Given the description of an element on the screen output the (x, y) to click on. 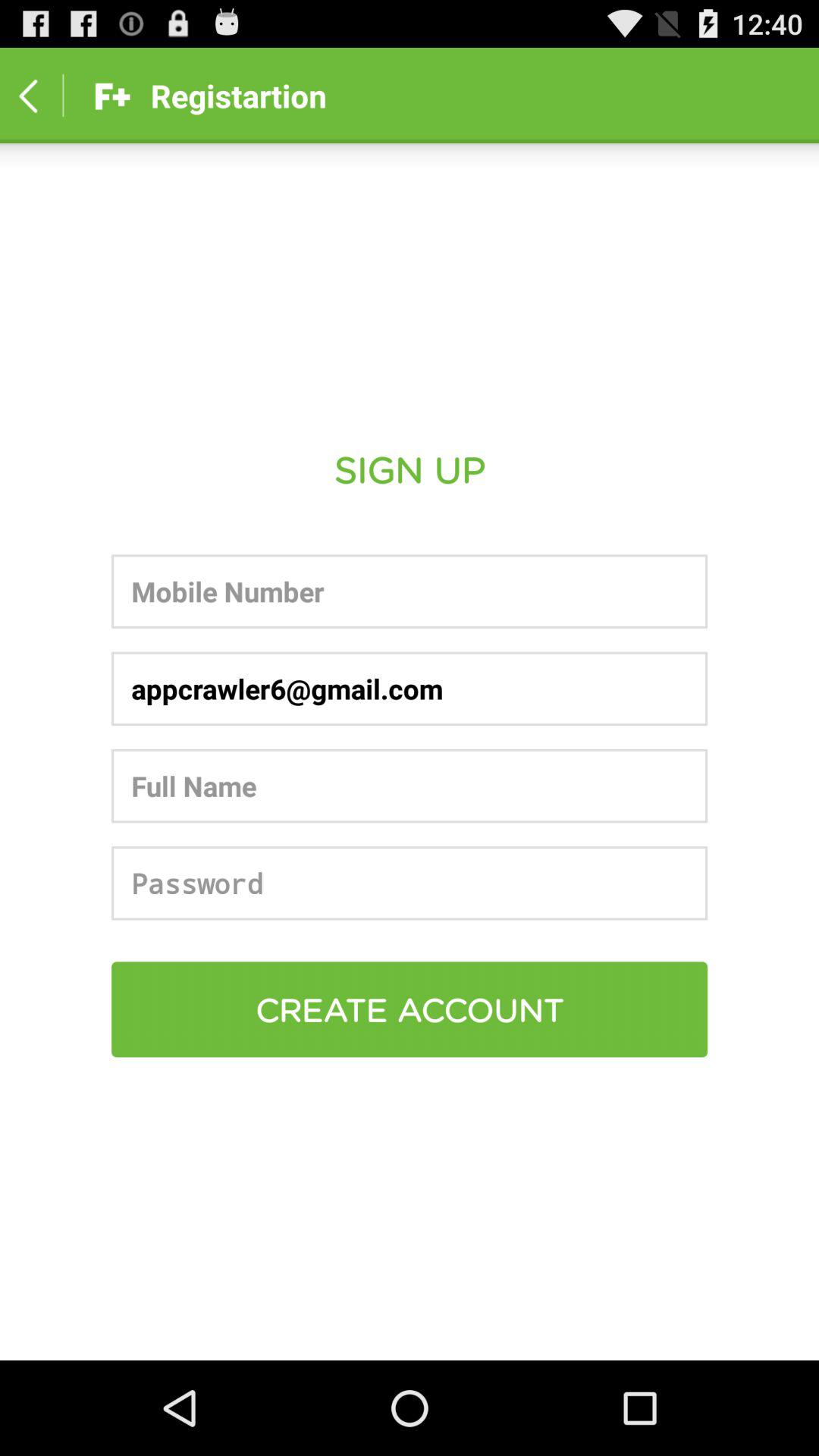
enter password (409, 882)
